Given the description of an element on the screen output the (x, y) to click on. 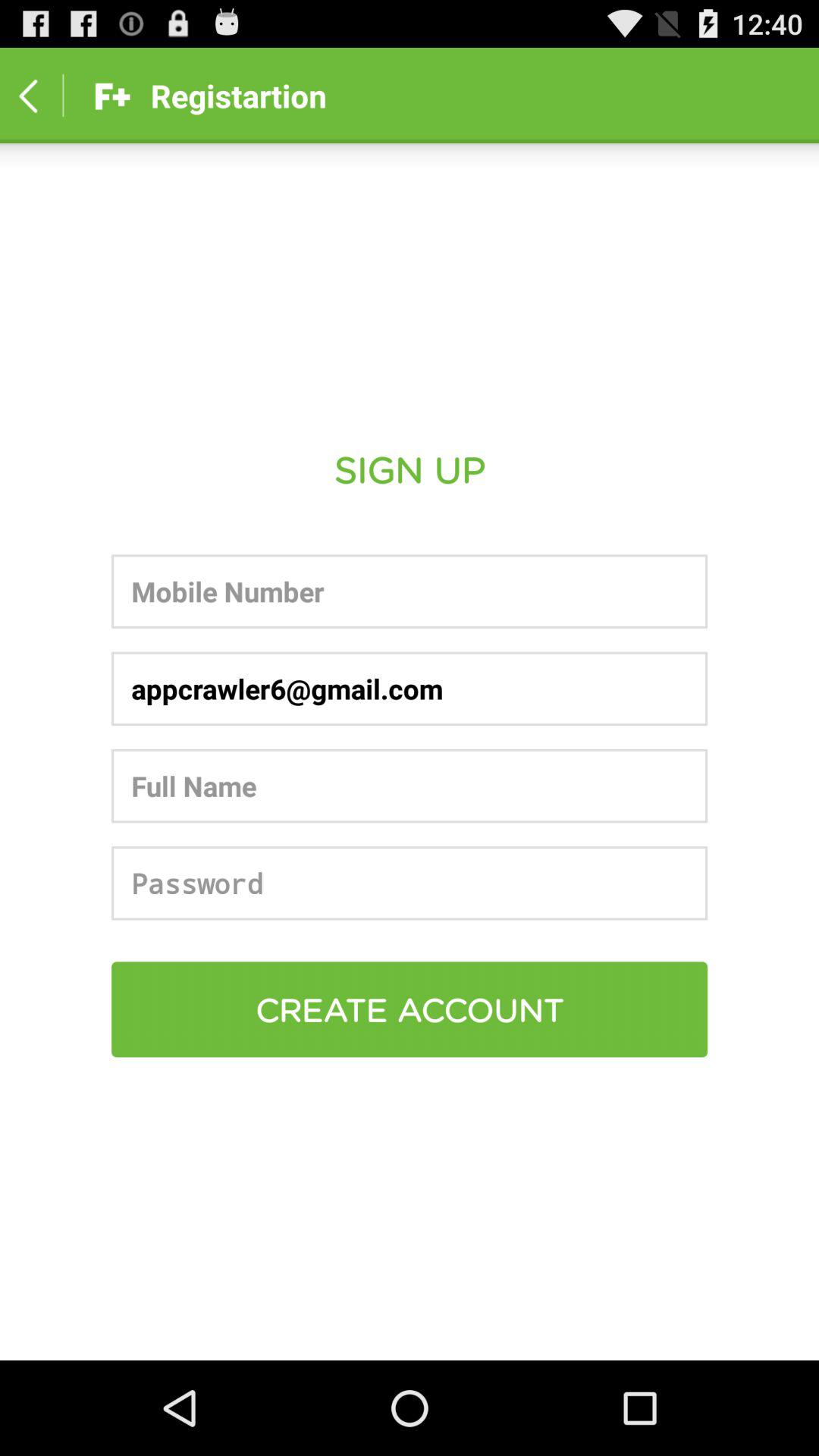
enter password (409, 882)
